Given the description of an element on the screen output the (x, y) to click on. 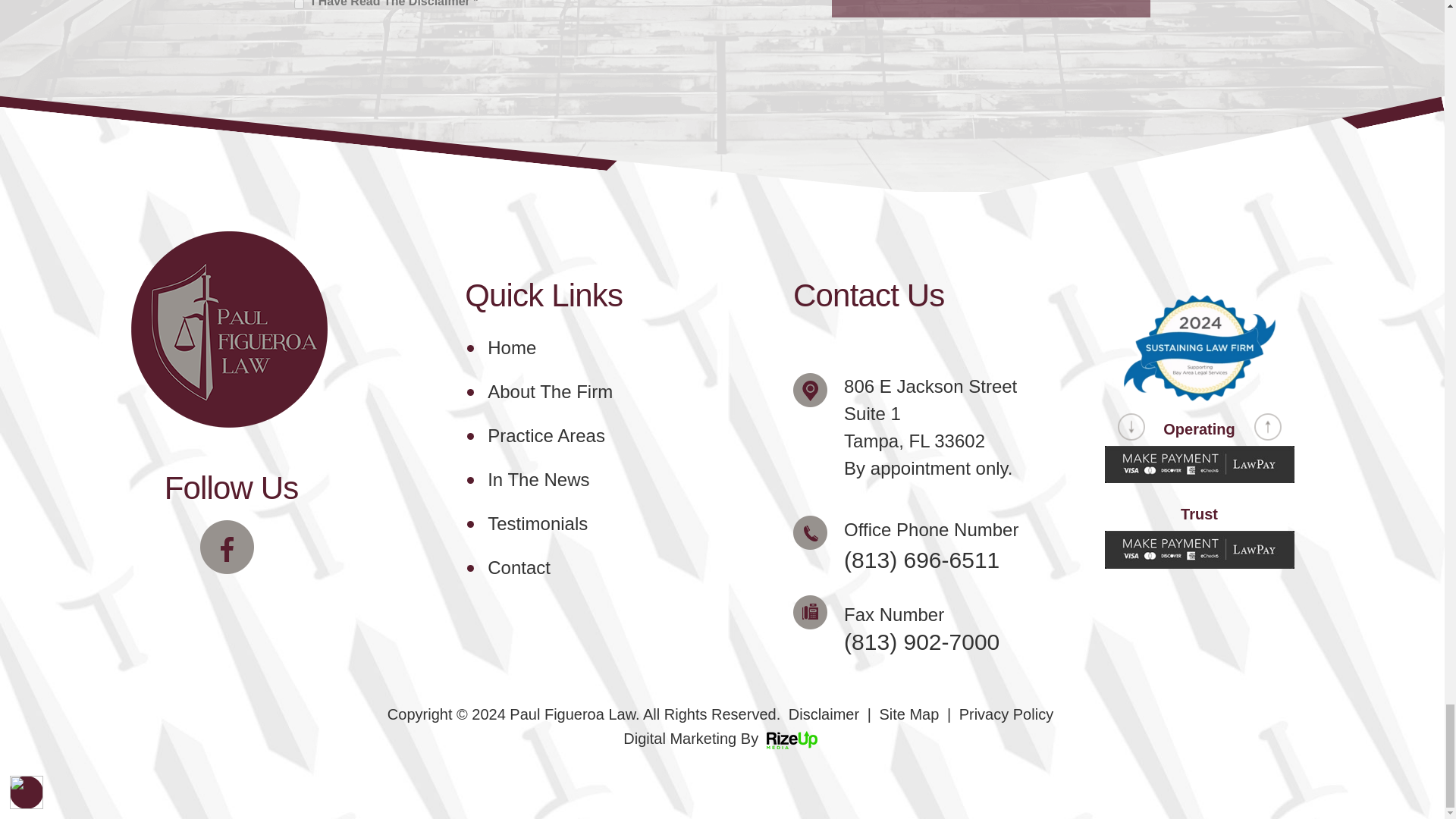
Submit Now (990, 8)
